Given the description of an element on the screen output the (x, y) to click on. 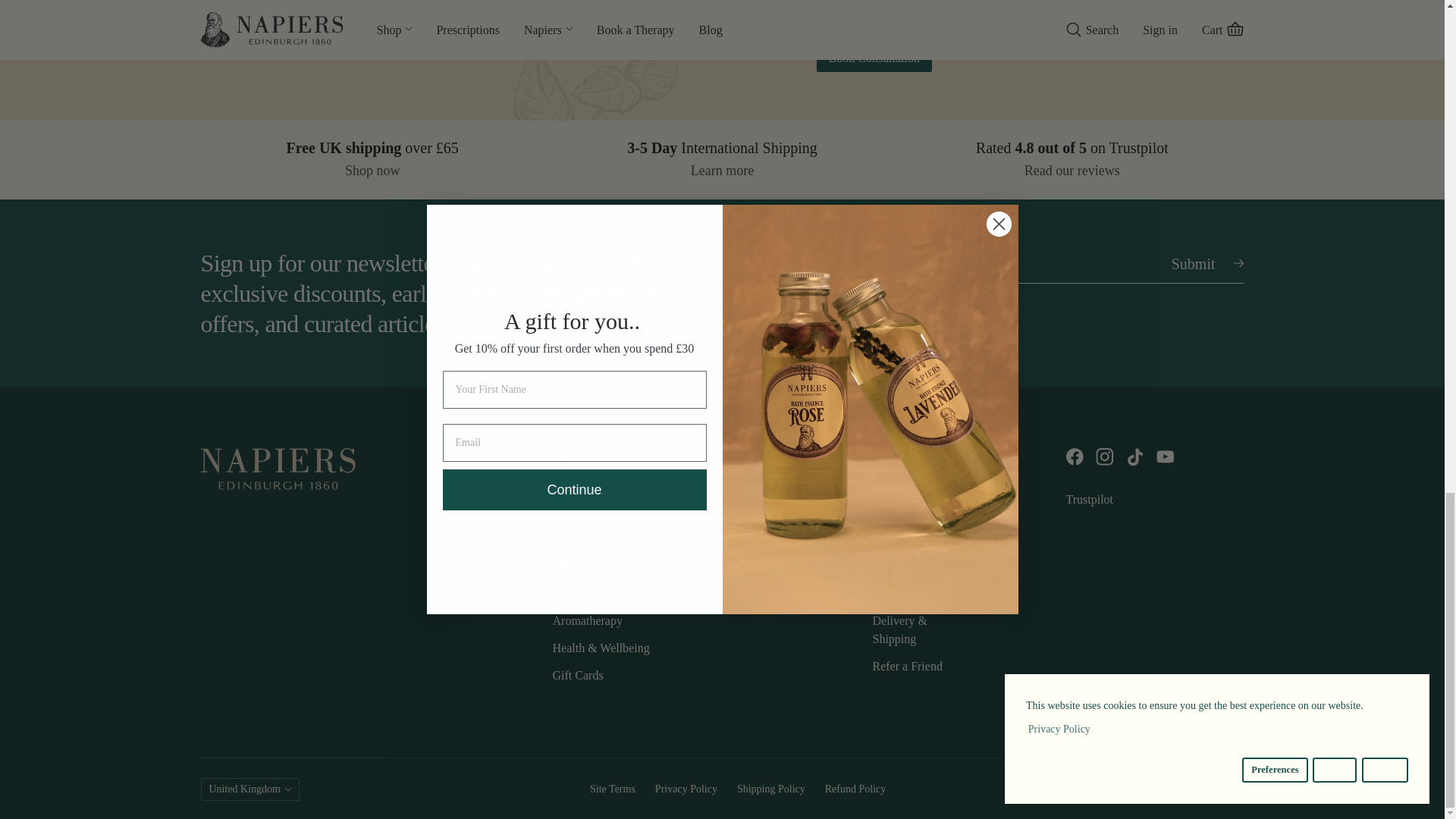
Submit (1192, 261)
